Given the description of an element on the screen output the (x, y) to click on. 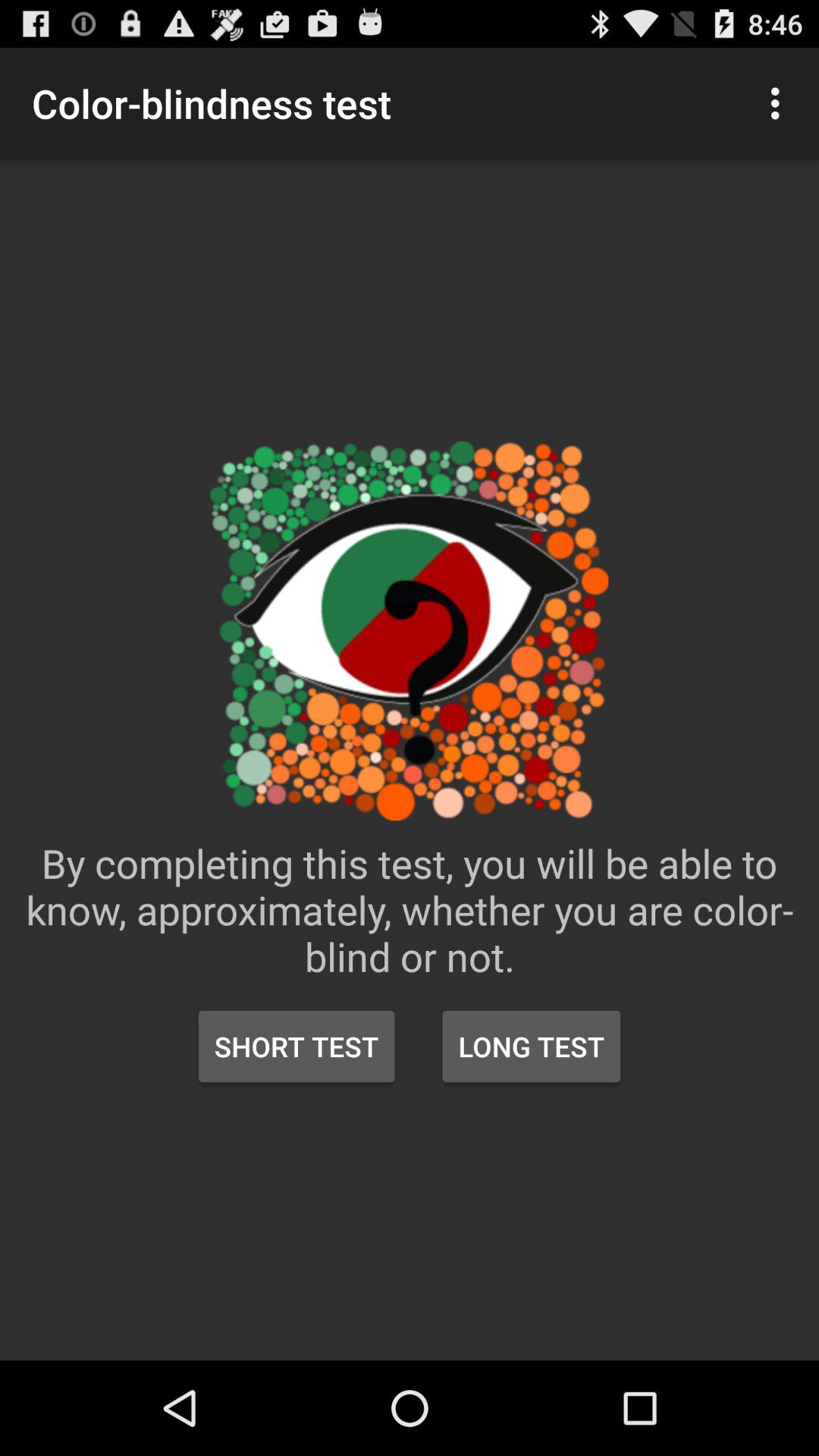
turn on item above the by completing this item (779, 103)
